Given the description of an element on the screen output the (x, y) to click on. 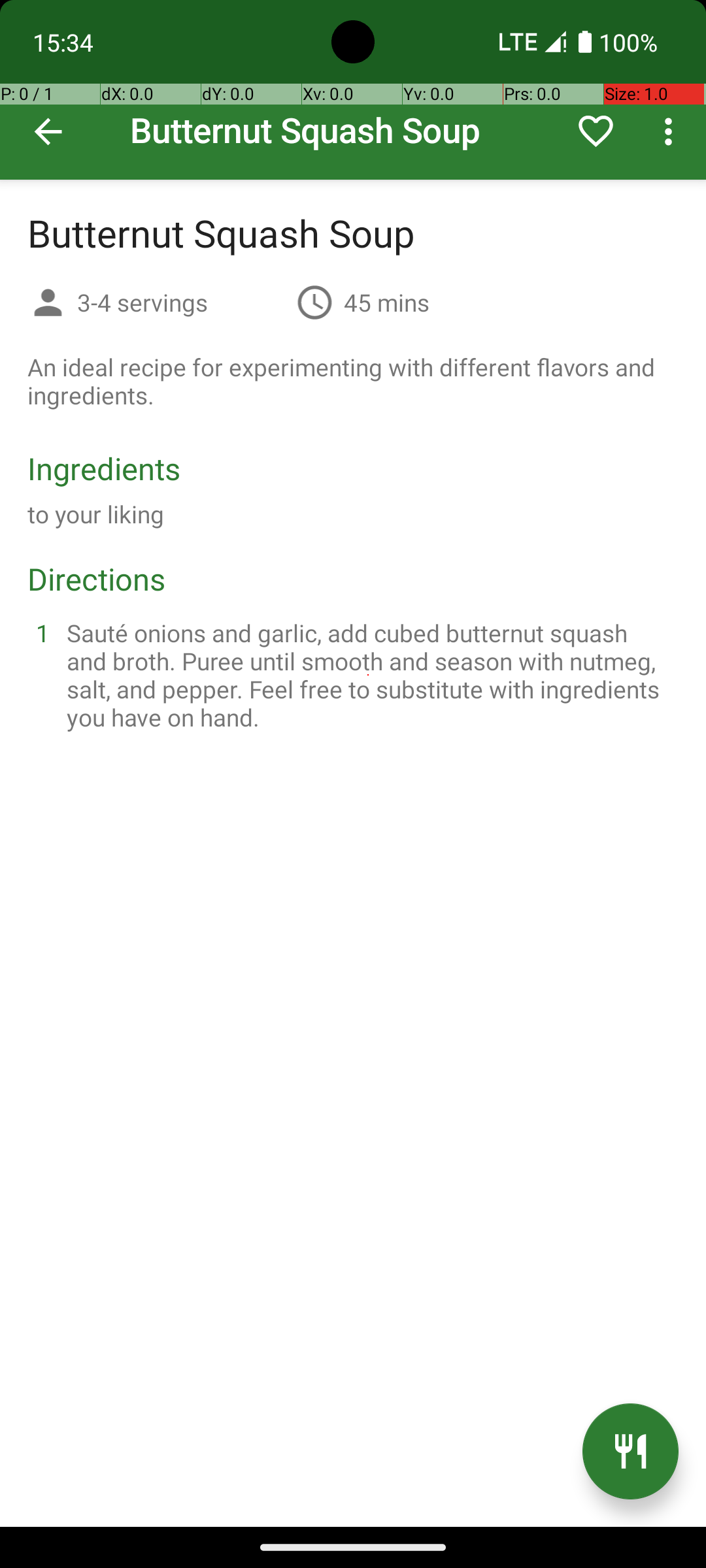
to your liking Element type: android.widget.TextView (95, 513)
Sauté onions and garlic, add cubed butternut squash and broth. Puree until smooth and season with nutmeg, salt, and pepper. Feel free to substitute with ingredients you have on hand. Element type: android.widget.TextView (368, 674)
